Given the description of an element on the screen output the (x, y) to click on. 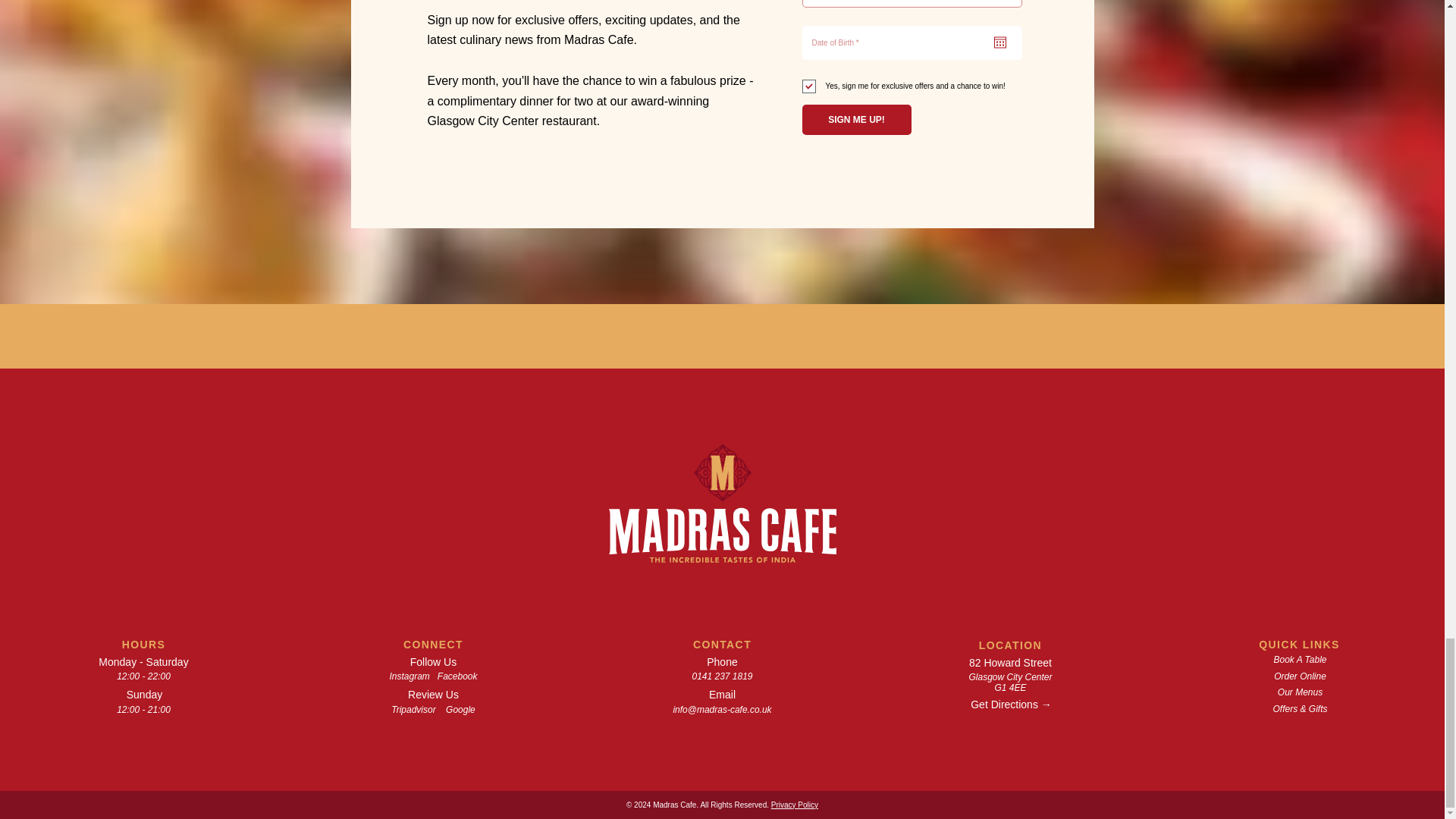
Instagram (408, 675)
Google (460, 709)
Tripadvisor (413, 709)
0141 237 1819 (721, 675)
Facebook (457, 675)
SIGN ME UP! (856, 119)
